Given the description of an element on the screen output the (x, y) to click on. 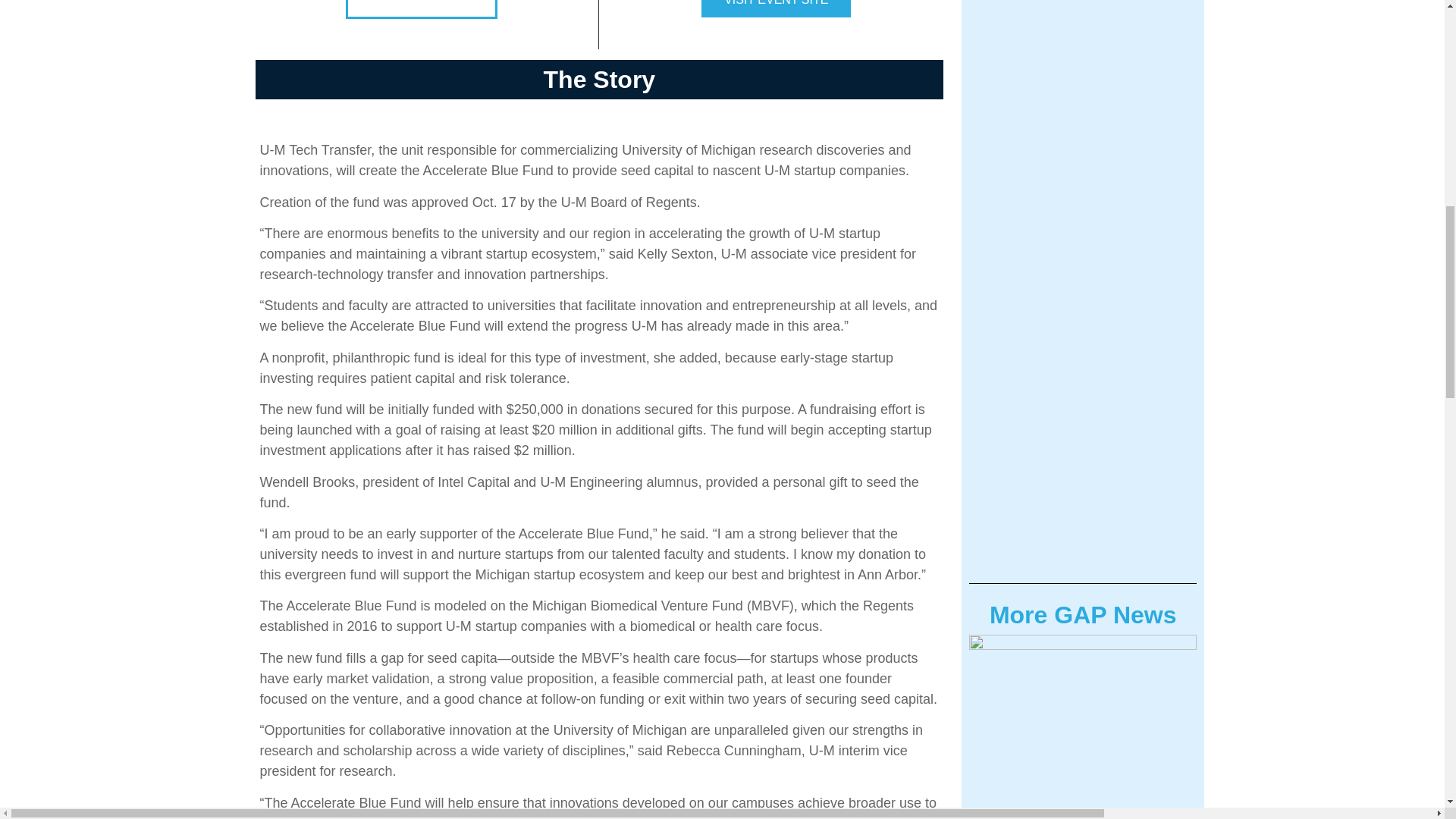
VISIT EVENT SITE (775, 8)
